Given the description of an element on the screen output the (x, y) to click on. 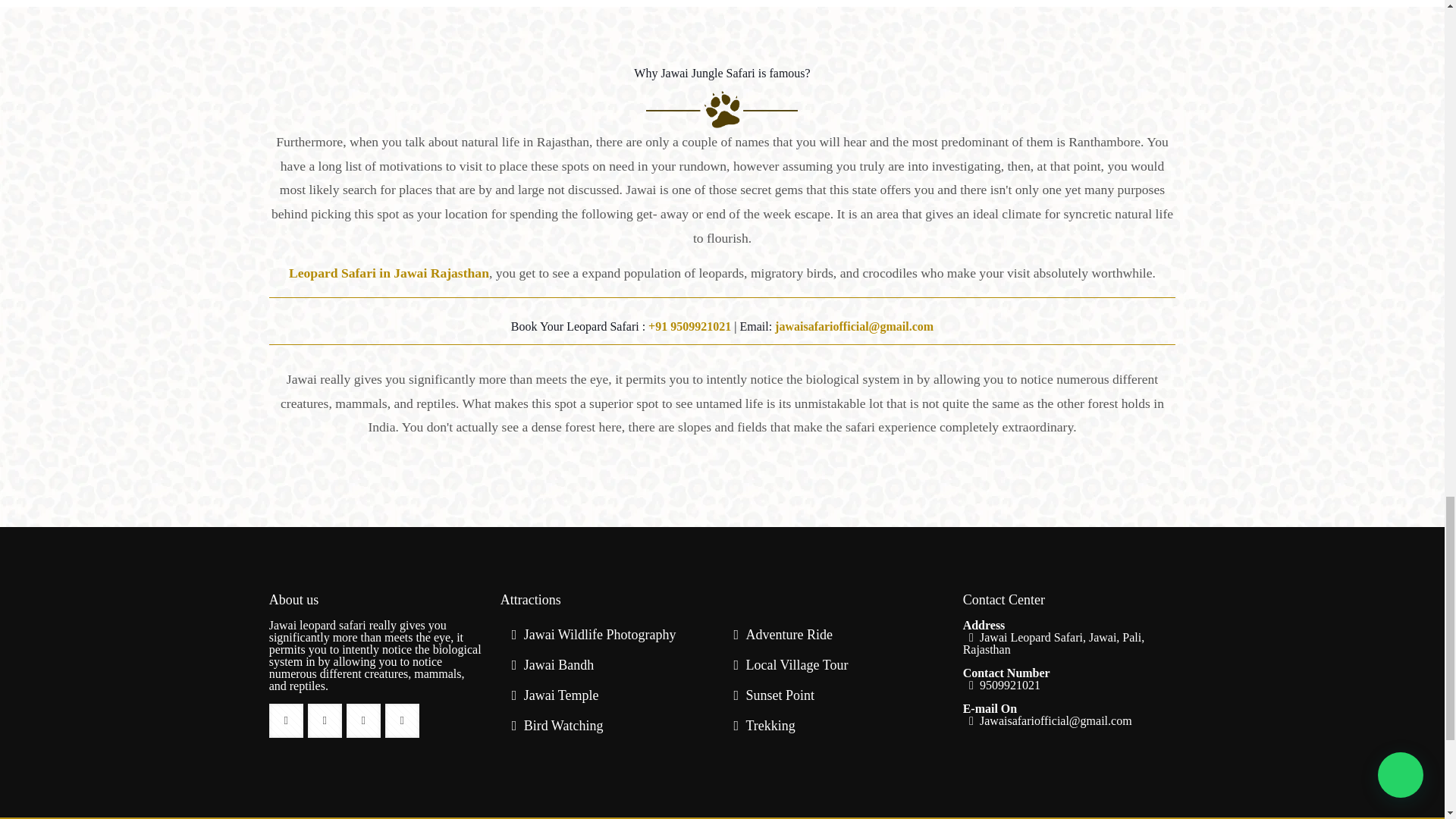
Leopard Safari in Jawai Rajasthan (388, 272)
9509921021 (1001, 684)
Trekking (769, 725)
Sunset Point (779, 694)
Jawai Wildlife Photography (600, 634)
Jawai Temple (561, 694)
Jawai Bandh (559, 664)
Adventure Ride (788, 634)
Local Village Tour (796, 664)
Bird Watching (564, 725)
